Given the description of an element on the screen output the (x, y) to click on. 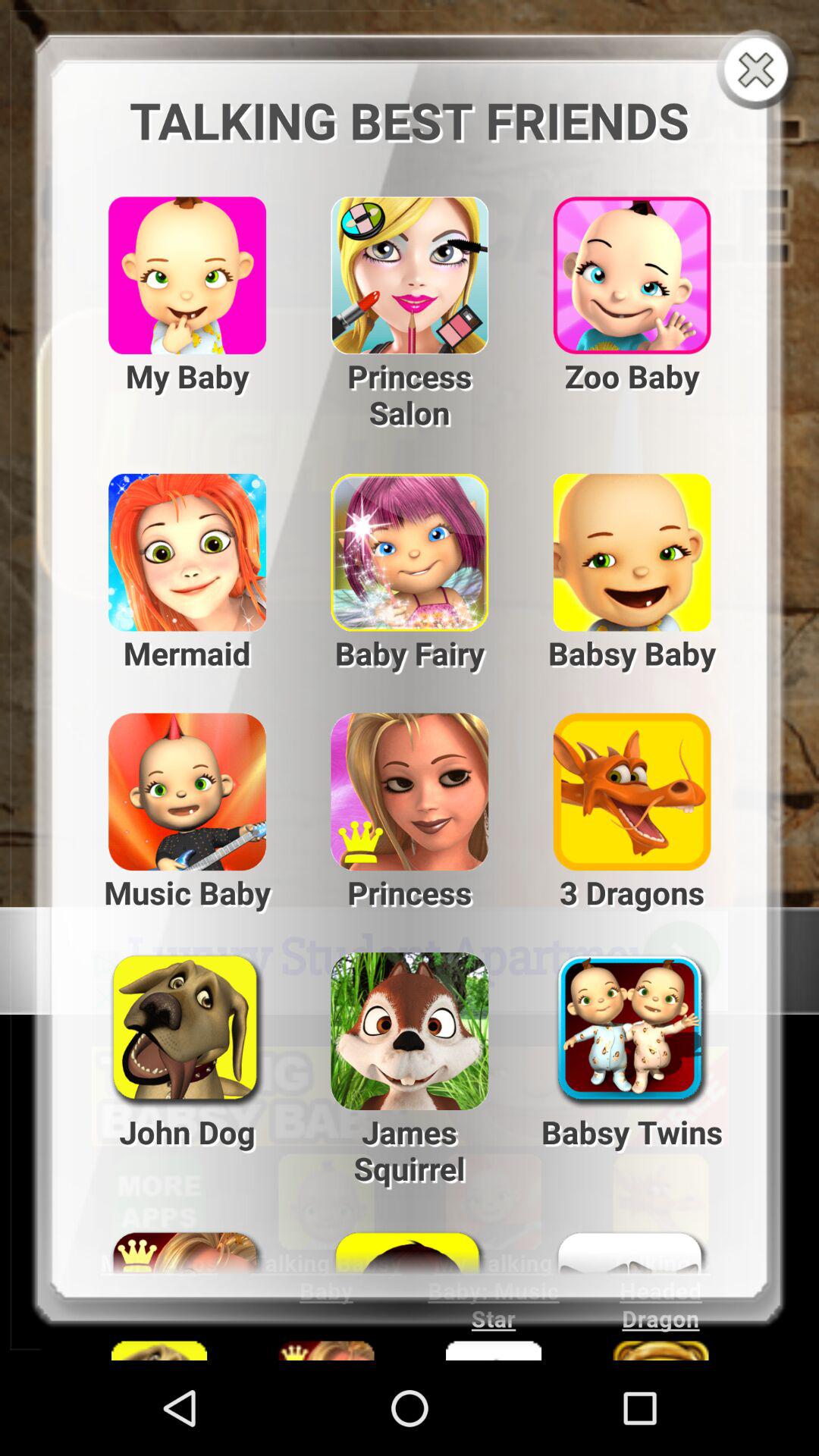
close application (759, 71)
